Given the description of an element on the screen output the (x, y) to click on. 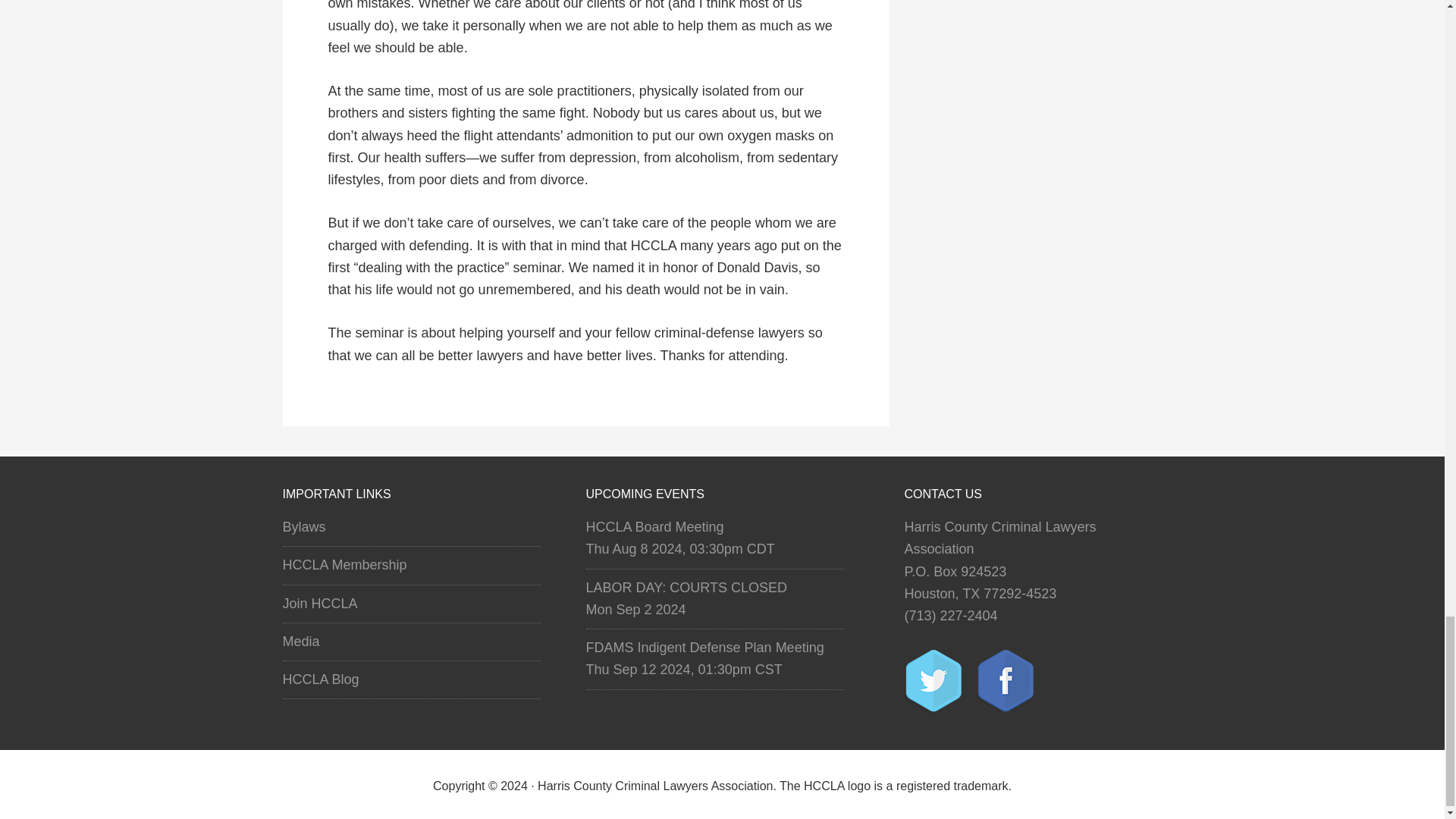
HCCLA Membership (344, 564)
Bylaws (303, 526)
Join HCCLA (319, 603)
